Given the description of an element on the screen output the (x, y) to click on. 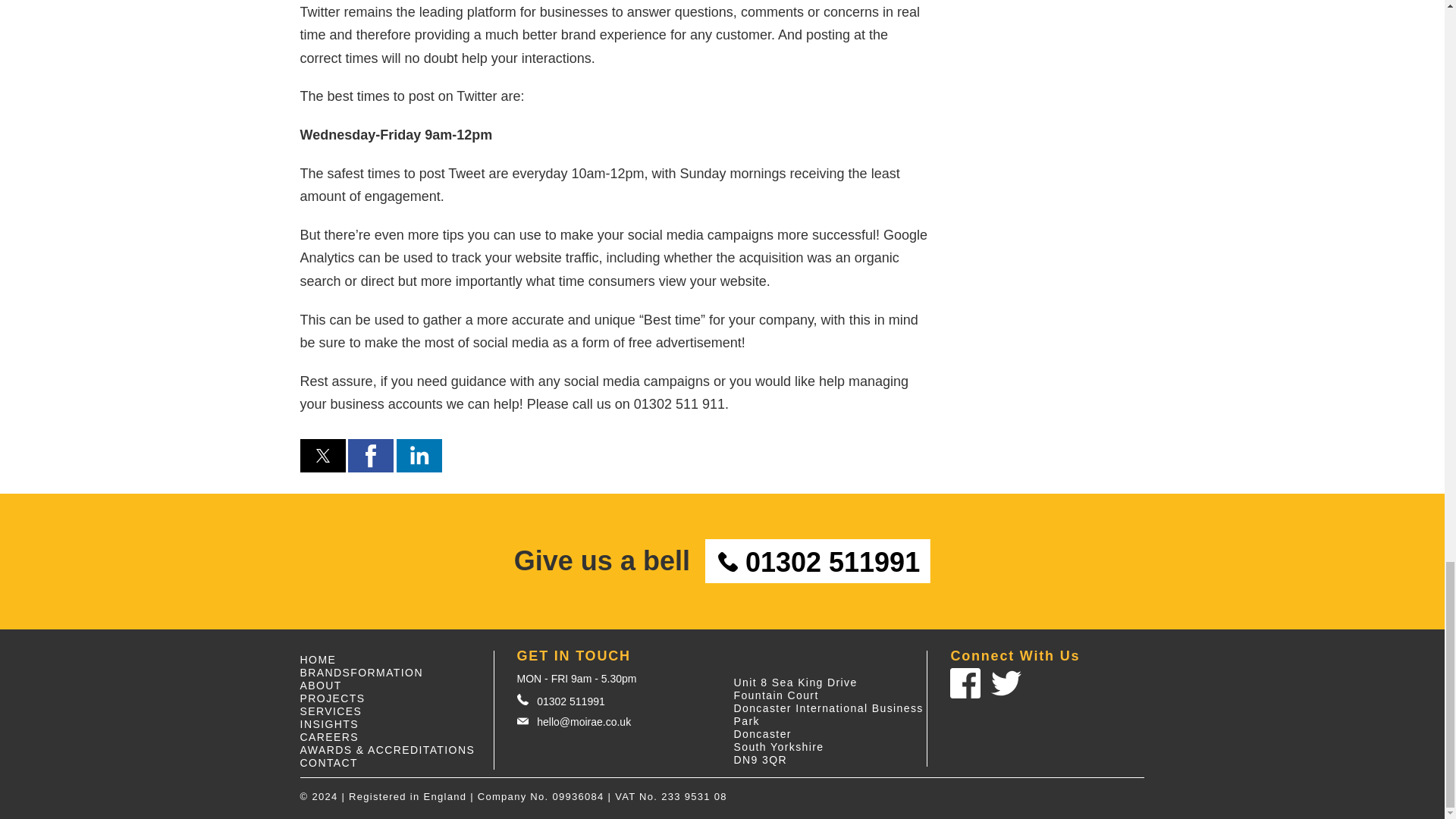
HOME (317, 659)
SERVICES (330, 711)
01302 511991 (817, 560)
PROJECTS (332, 698)
CAREERS (328, 736)
CONTACT (328, 762)
  01302 511991 (613, 701)
BRANDSFORMATION (361, 672)
ABOUT (320, 685)
INSIGHTS (328, 724)
